Given the description of an element on the screen output the (x, y) to click on. 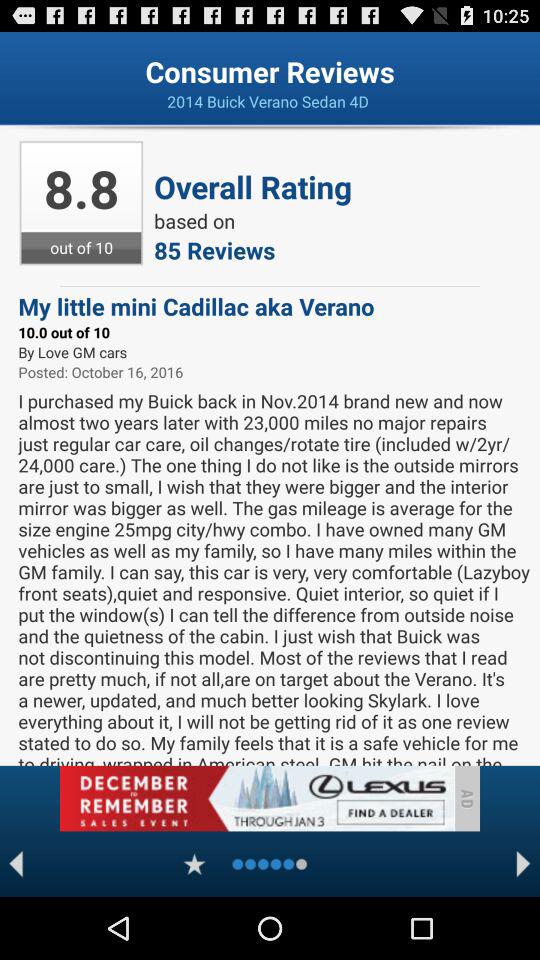
go back (16, 864)
